Given the description of an element on the screen output the (x, y) to click on. 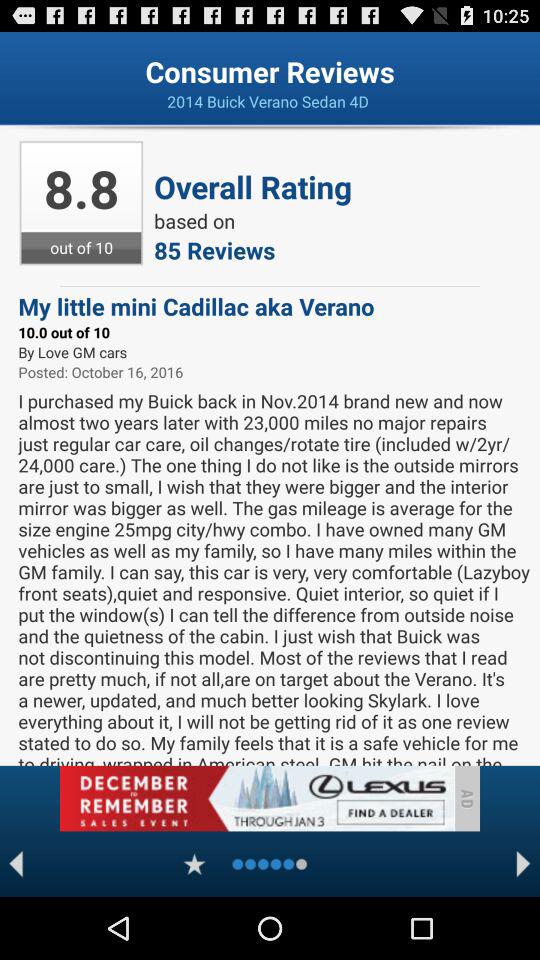
go back (16, 864)
